Given the description of an element on the screen output the (x, y) to click on. 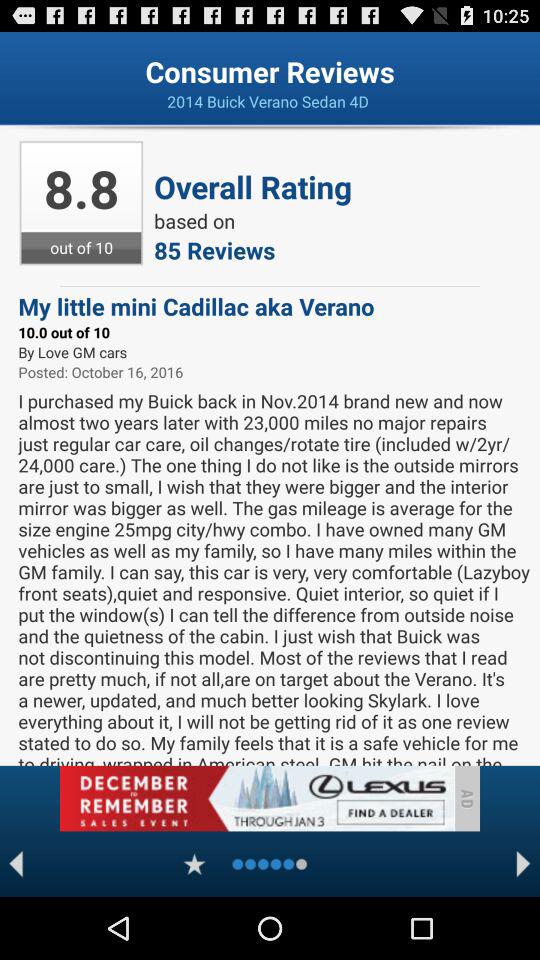
go back (16, 864)
